Given the description of an element on the screen output the (x, y) to click on. 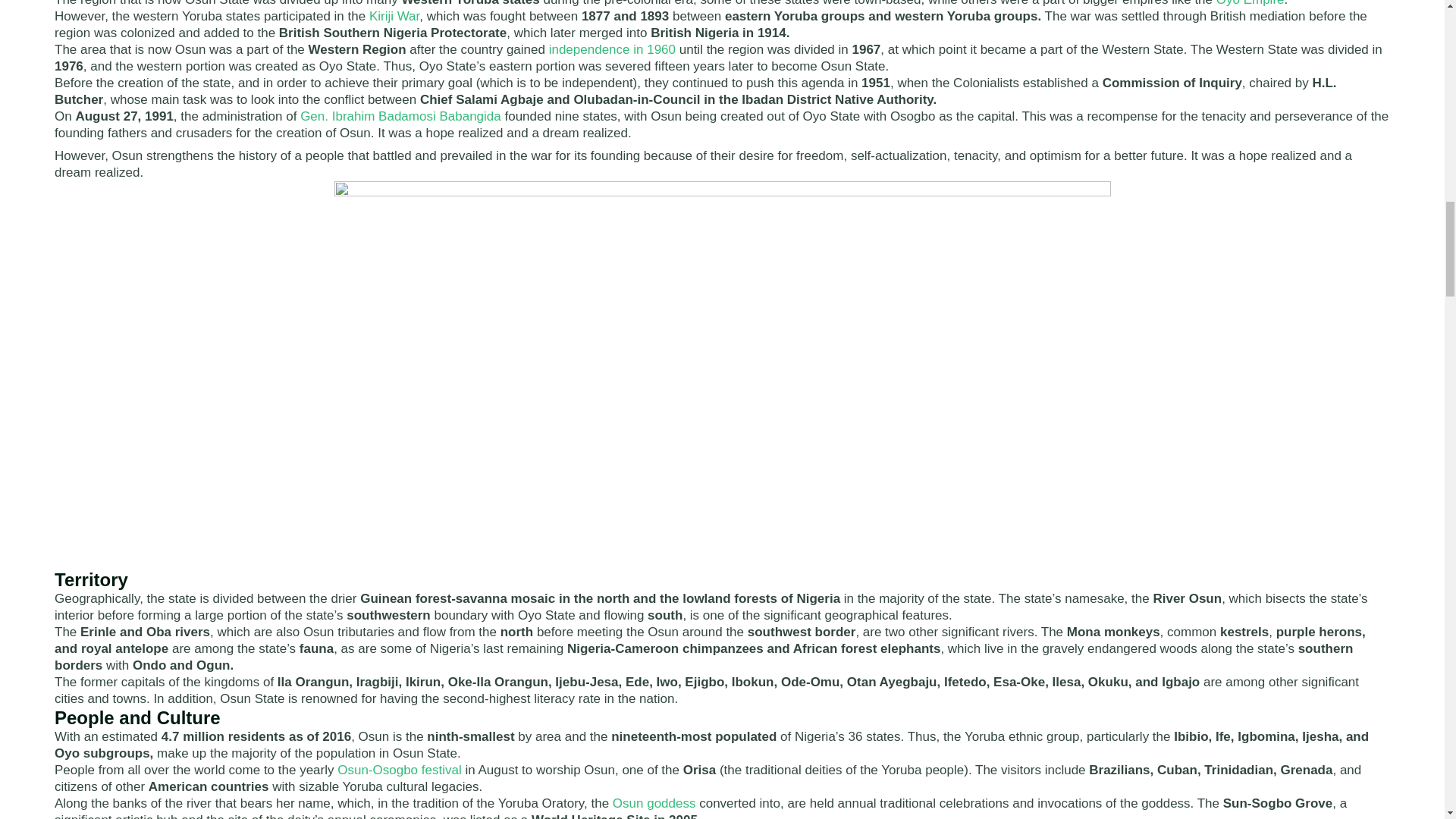
Oyo Empire (1249, 3)
